Given the description of an element on the screen output the (x, y) to click on. 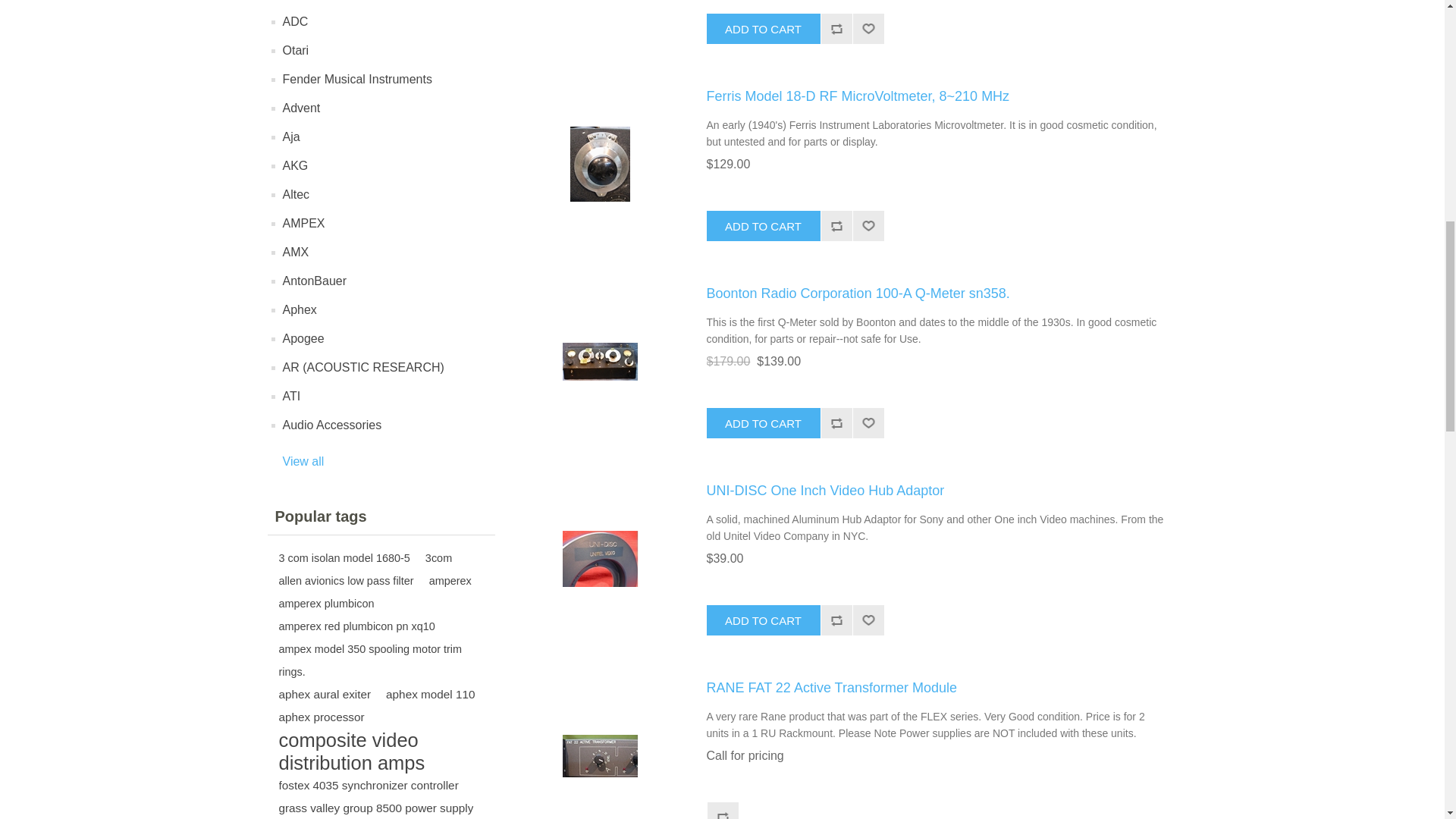
Add to compare list (836, 422)
Add to cart (763, 620)
Add to cart (763, 422)
Add to compare list (836, 620)
Add to wishlist (867, 225)
Add to cart (763, 28)
Add to wishlist (867, 422)
Add to compare list (836, 28)
Add to wishlist (867, 28)
Add to compare list (836, 225)
Add to cart (763, 225)
Add to wishlist (867, 620)
